Given the description of an element on the screen output the (x, y) to click on. 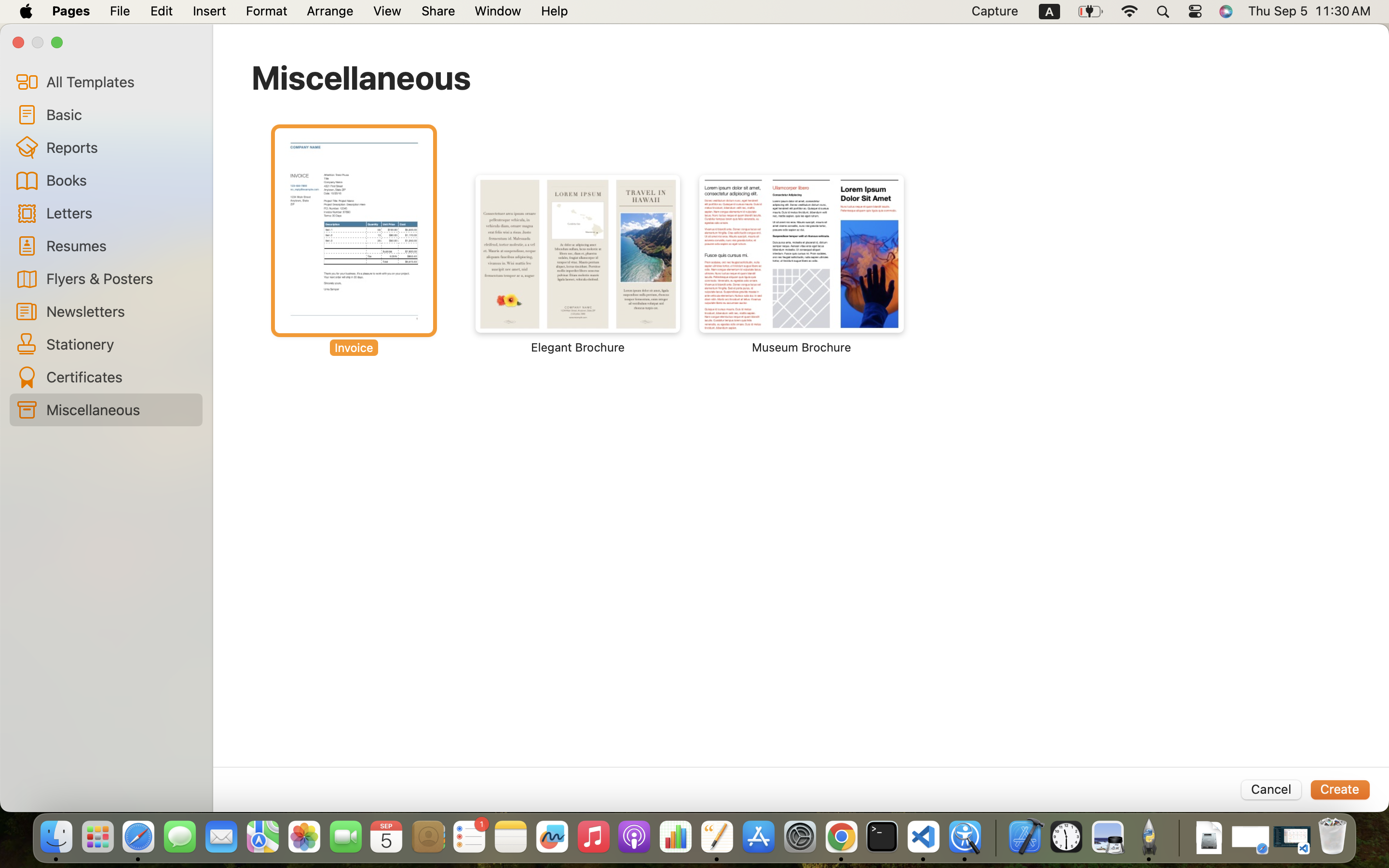
‎⁨Invoice⁩ Element type: AXButton (353, 241)
Reports Element type: AXStaticText (120, 146)
Stationery Element type: AXStaticText (120, 343)
Letters Element type: AXStaticText (120, 212)
